Given the description of an element on the screen output the (x, y) to click on. 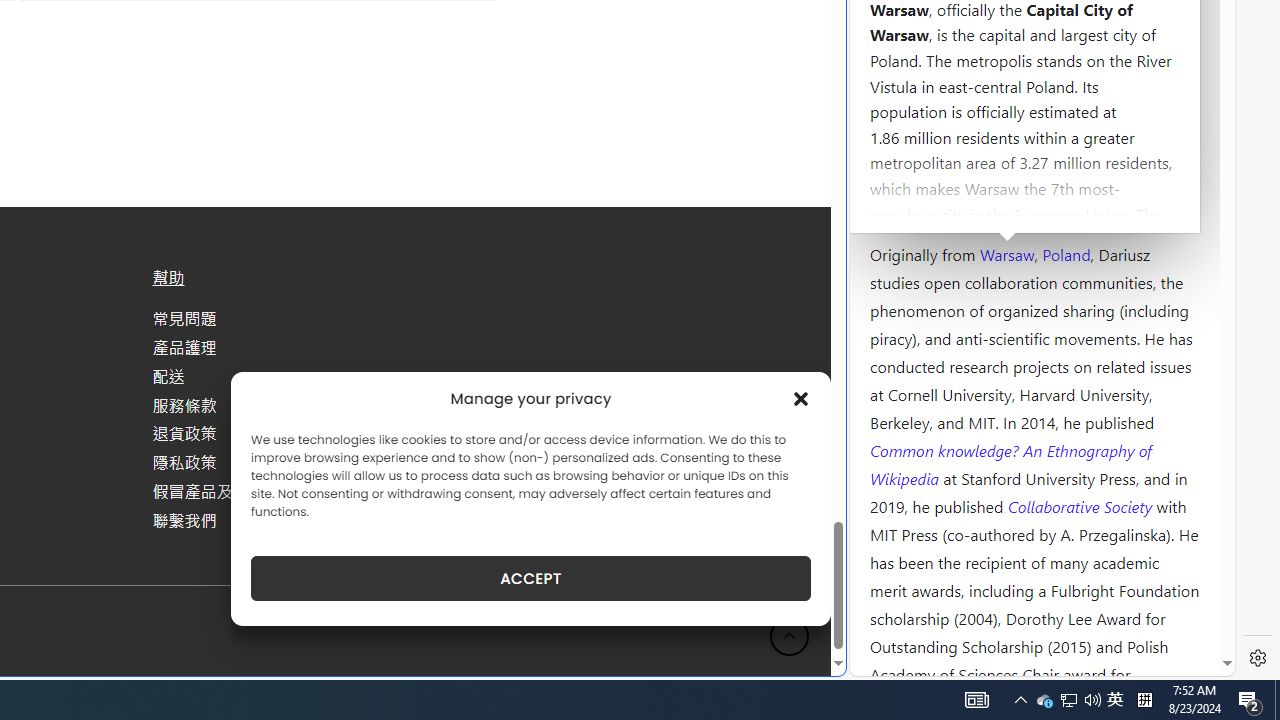
Class: cmplz-close (801, 398)
Kozminski University (1034, 136)
Poland (1065, 253)
